Given the description of an element on the screen output the (x, y) to click on. 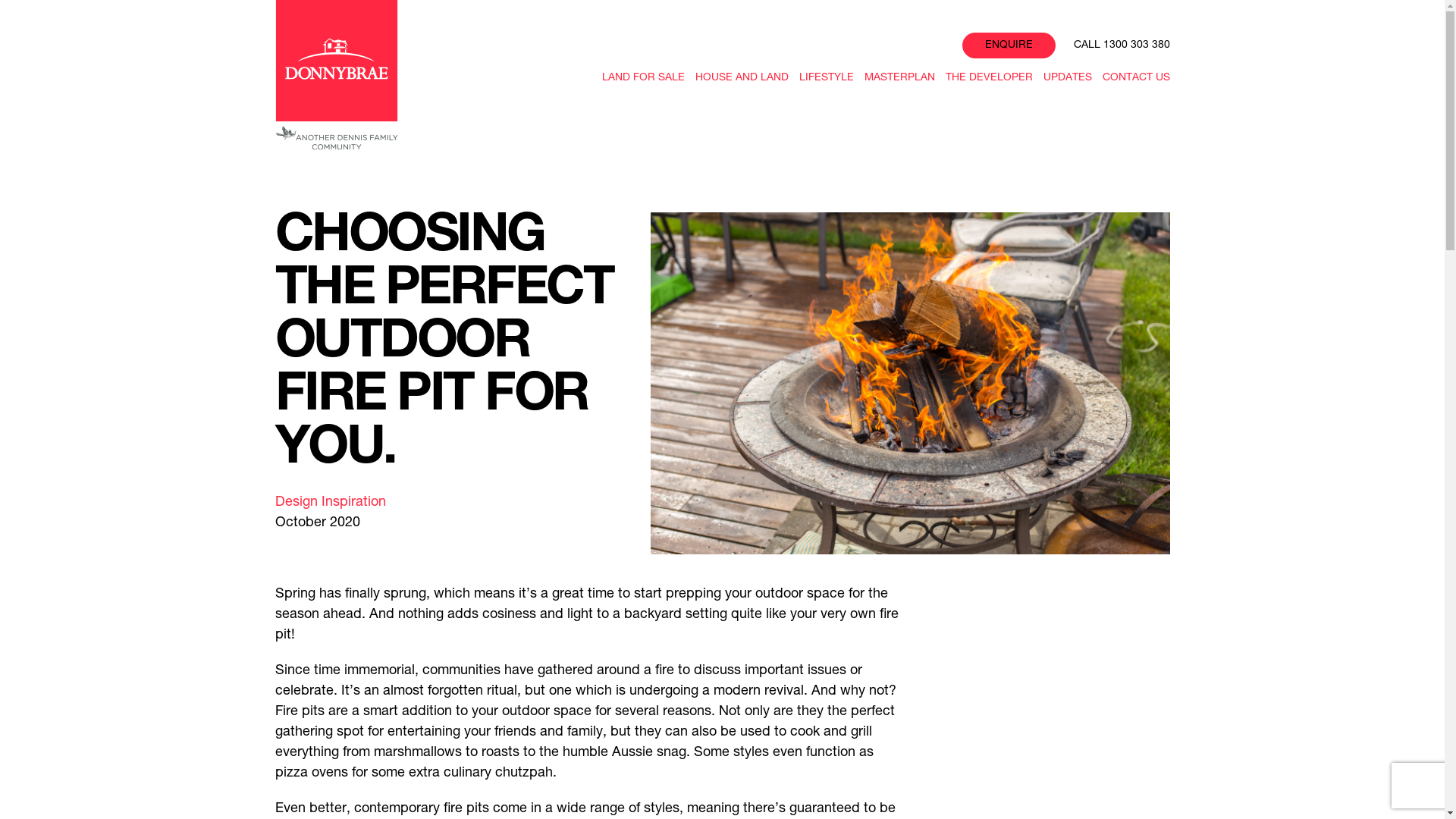
Design Inspiration Element type: text (329, 502)
Skip to main content Element type: text (681, 1)
CONTACT US Element type: text (1133, 78)
THE DEVELOPER Element type: text (986, 78)
MASTERPLAN Element type: text (896, 78)
HOUSE AND LAND Element type: text (739, 78)
ENQUIRE Element type: text (1007, 45)
LIFESTYLE Element type: text (823, 78)
LAND FOR SALE Element type: text (640, 78)
UPDATES Element type: text (1064, 78)
